Given the description of an element on the screen output the (x, y) to click on. 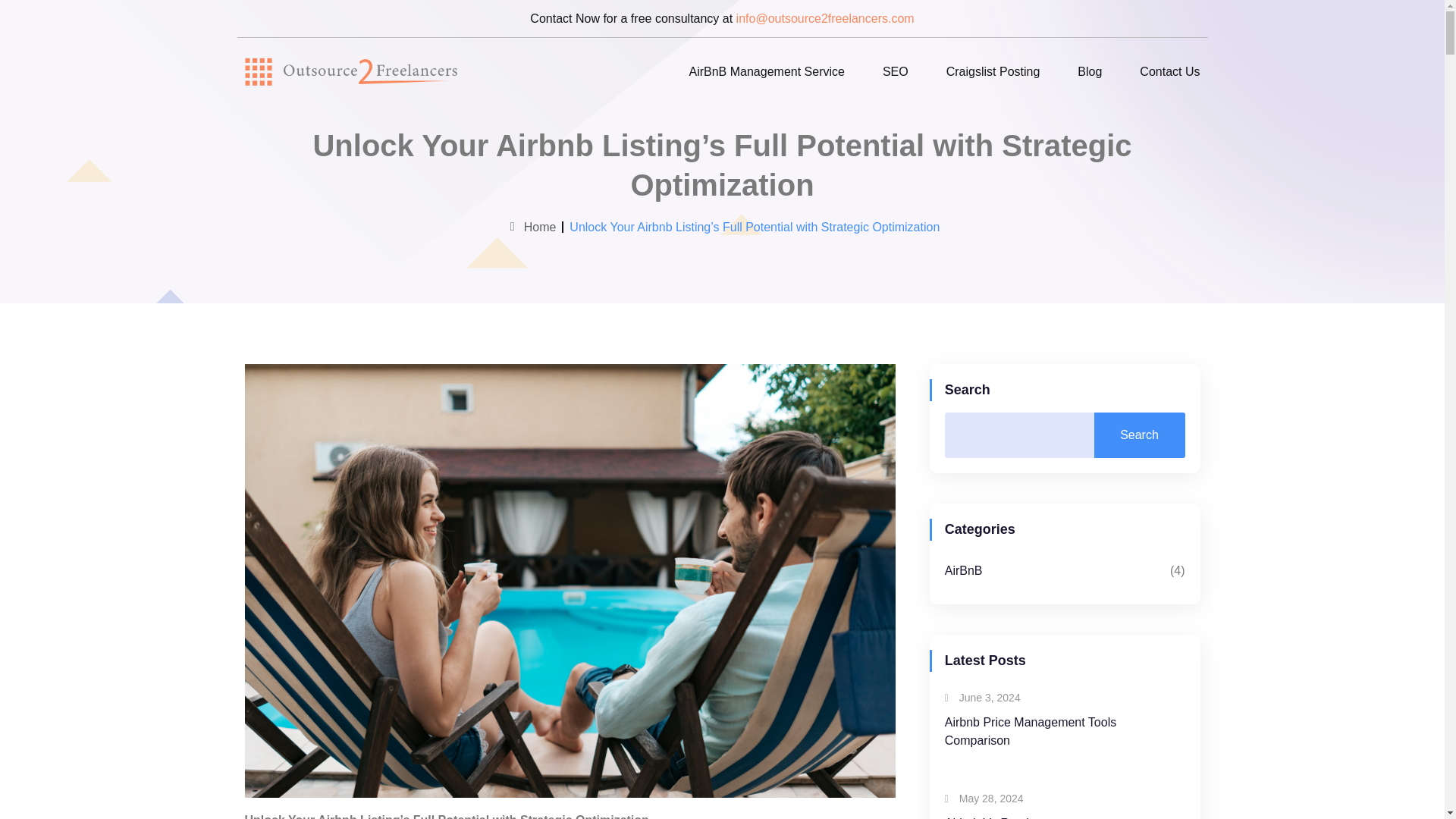
Craigslist Posting (993, 71)
AirBnB (963, 570)
June 3, 2024 (982, 698)
Airbnb Vs Renting (993, 817)
Airbnb Price Management Tools Comparison (1030, 730)
May 28, 2024 (983, 798)
Home (530, 227)
Search (1139, 434)
AirBnB Management Service (766, 71)
Contact Us (1169, 71)
